Given the description of an element on the screen output the (x, y) to click on. 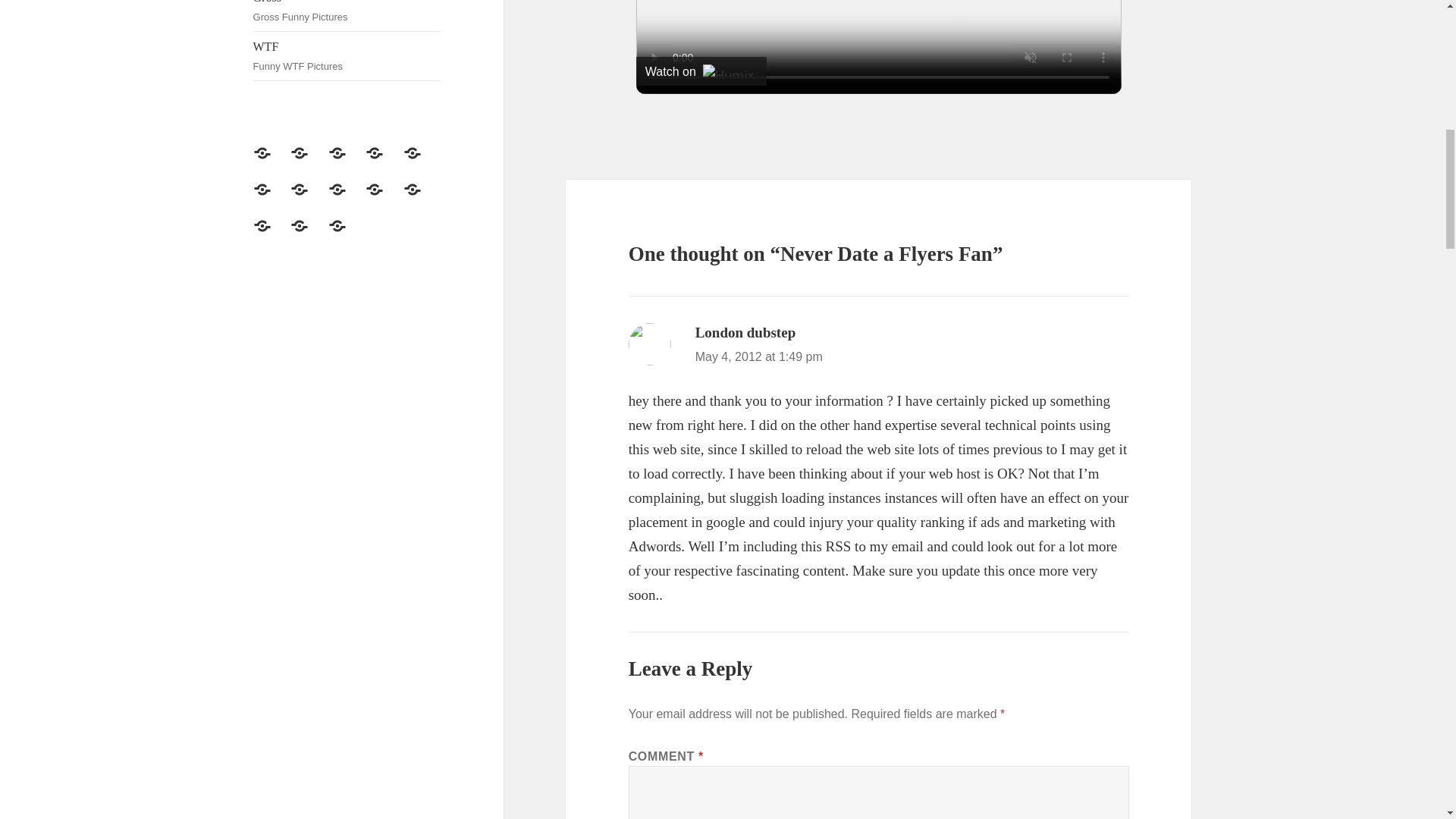
Fail (347, 162)
Owned (271, 235)
Motivationals (421, 198)
Signs (347, 55)
Clever (347, 15)
Most Popular (421, 162)
Animals (307, 198)
Contact (271, 198)
